Given the description of an element on the screen output the (x, y) to click on. 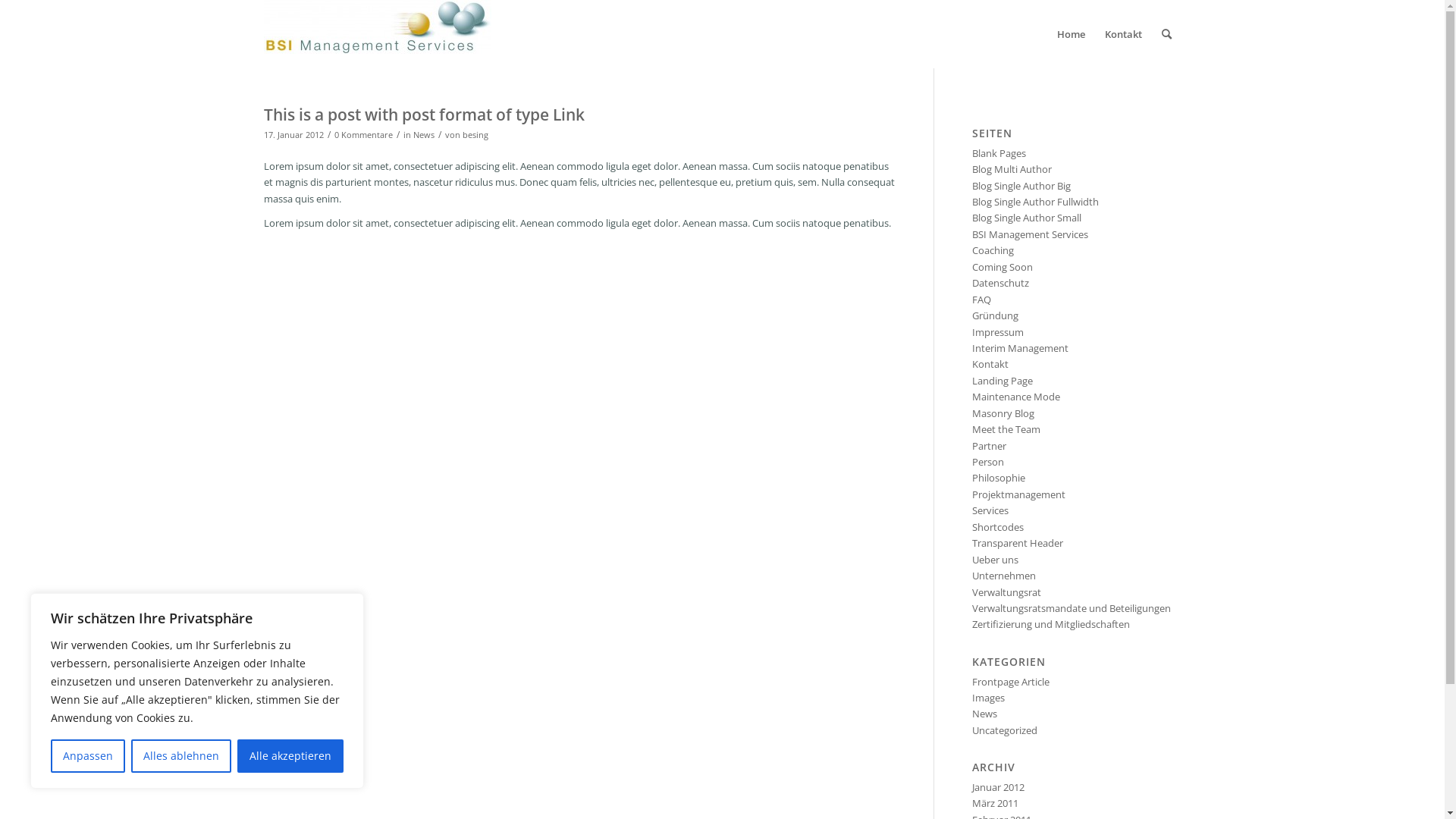
Services Element type: text (990, 510)
Verwaltungsrat Element type: text (1006, 592)
Unternehmen Element type: text (1003, 575)
Impressum Element type: text (997, 331)
Datenschutz Element type: text (1000, 282)
Coming Soon Element type: text (1002, 266)
Philosophie Element type: text (998, 477)
News Element type: text (984, 713)
Blog Multi Author Element type: text (1011, 168)
Alle akzeptieren Element type: text (290, 755)
Anpassen Element type: text (87, 755)
Interim Management Element type: text (1020, 347)
BSI Management Services Element type: text (1030, 234)
Images Element type: text (988, 697)
Coaching Element type: text (992, 250)
Partner Element type: text (989, 445)
Blank Pages Element type: text (999, 153)
Maintenance Mode Element type: text (1016, 396)
besing Element type: text (475, 134)
Masonry Blog Element type: text (1003, 413)
Shortcodes Element type: text (997, 526)
Blog Single Author Fullwidth Element type: text (1035, 201)
Januar 2012 Element type: text (998, 786)
FAQ Element type: text (981, 299)
Alles ablehnen Element type: text (181, 755)
Blog Single Author Big Element type: text (1021, 185)
This is a post with post format of type Link Element type: text (423, 114)
Home Element type: text (1070, 34)
News Element type: text (422, 134)
Kontakt Element type: text (1123, 34)
Kontakt Element type: text (990, 363)
Zertifizierung und Mitgliedschaften Element type: text (1050, 623)
Uncategorized Element type: text (1004, 730)
Frontpage Article Element type: text (1010, 681)
0 Kommentare Element type: text (362, 134)
Projektmanagement Element type: text (1018, 494)
Person Element type: text (988, 461)
Ueber uns Element type: text (995, 559)
Transparent Header Element type: text (1017, 542)
Blog Single Author Small Element type: text (1026, 217)
Landing Page Element type: text (1002, 380)
Meet the Team Element type: text (1006, 429)
Verwaltungsratsmandate und Beteiligungen Element type: text (1071, 608)
